Given the description of an element on the screen output the (x, y) to click on. 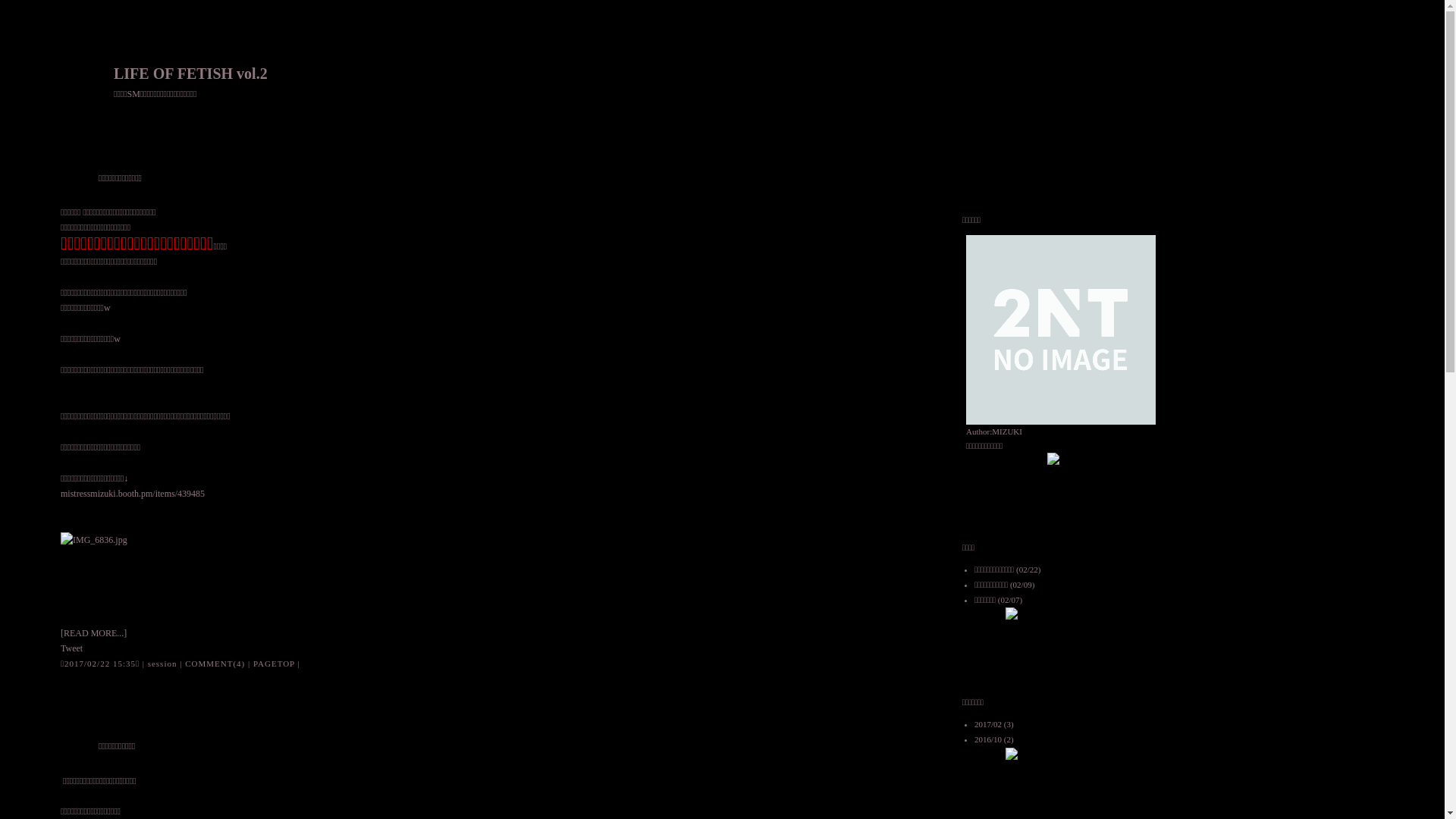
COMMENT(4) Element type: text (214, 663)
Tweet Element type: text (71, 648)
mistressmizuki.booth.pm/items/439485 Element type: text (132, 493)
2016/10 (2) Element type: text (993, 738)
2017/02 (3) Element type: text (993, 723)
session Element type: text (162, 663)
LIFE OF FETISH vol.2 Element type: text (190, 73)
PAGETOP Element type: text (273, 663)
[READ MORE...] Element type: text (93, 632)
